Given the description of an element on the screen output the (x, y) to click on. 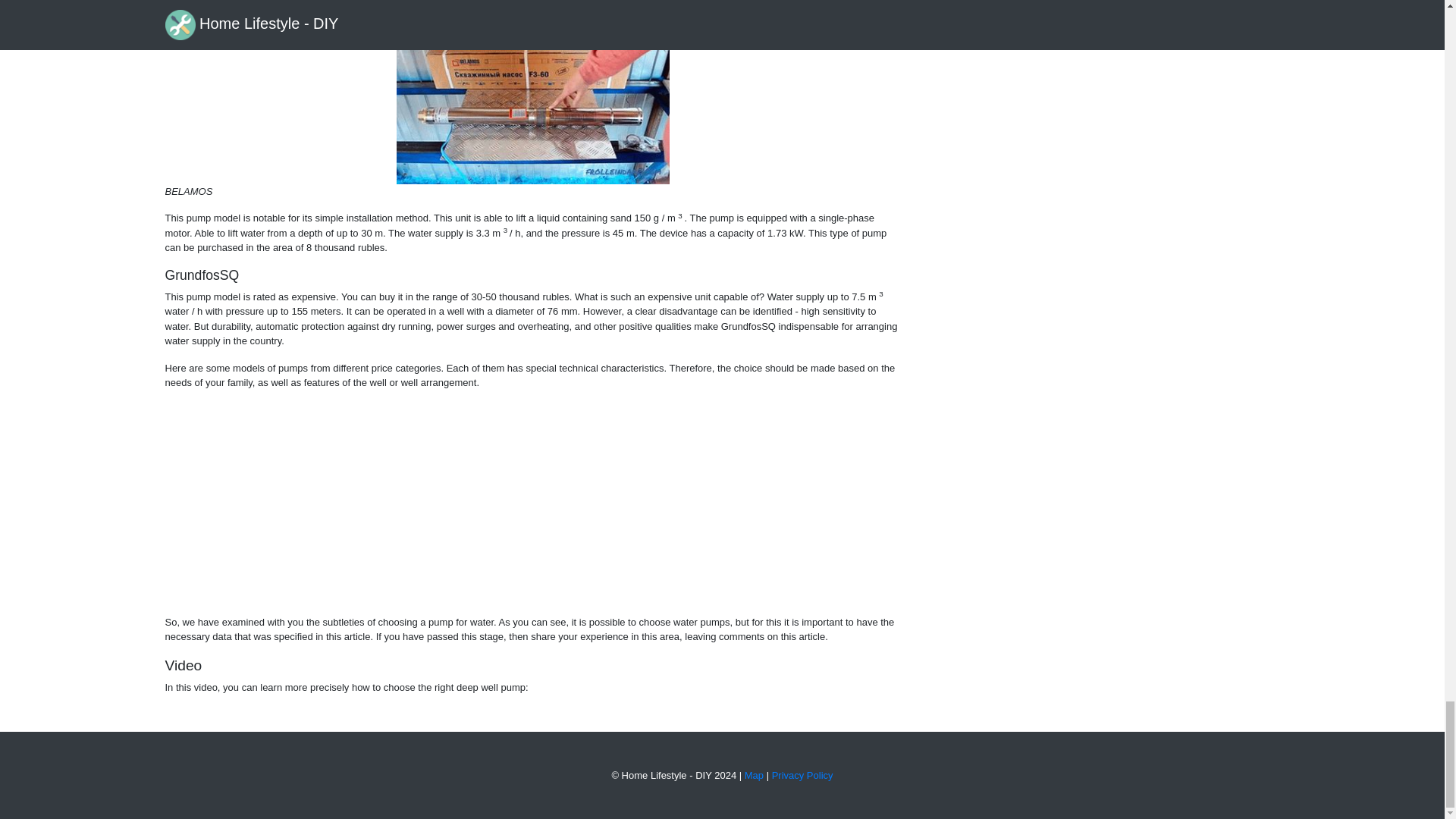
Privacy Policy (801, 775)
Map (753, 775)
